Given the description of an element on the screen output the (x, y) to click on. 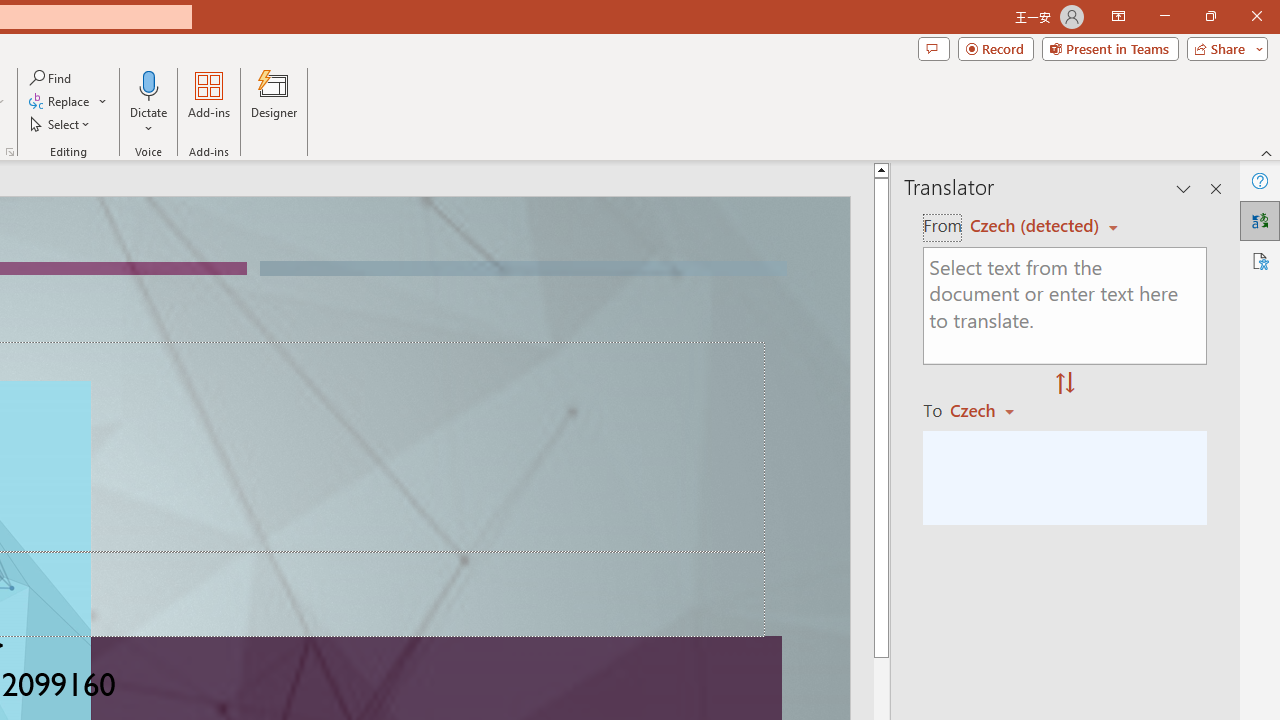
Czech (991, 409)
Swap "from" and "to" languages. (1065, 383)
